Given the description of an element on the screen output the (x, y) to click on. 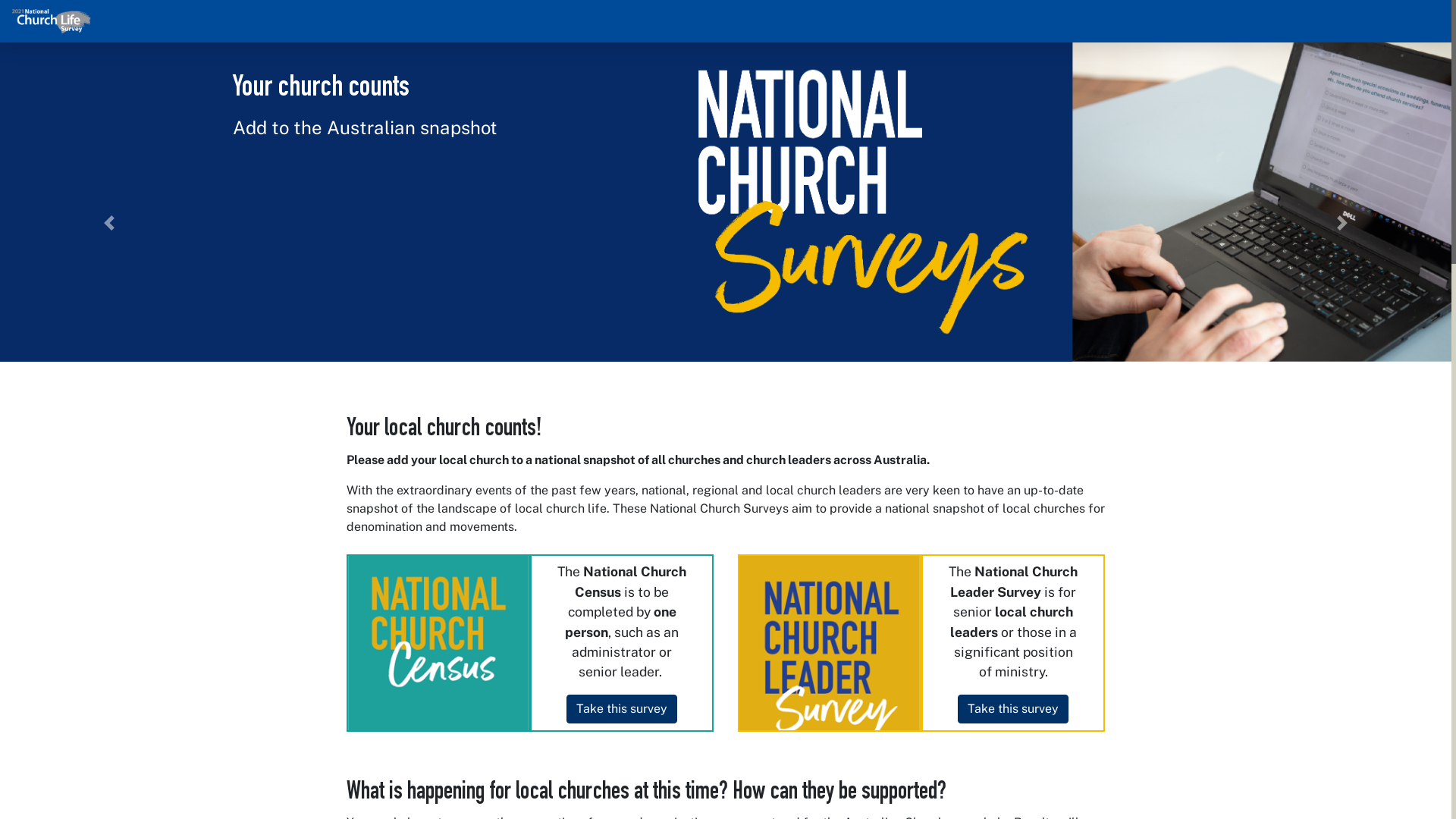
Take this survey Element type: text (621, 708)
Take this survey Element type: text (1012, 708)
Next Element type: text (1342, 222)
Previous Element type: text (108, 222)
